Given the description of an element on the screen output the (x, y) to click on. 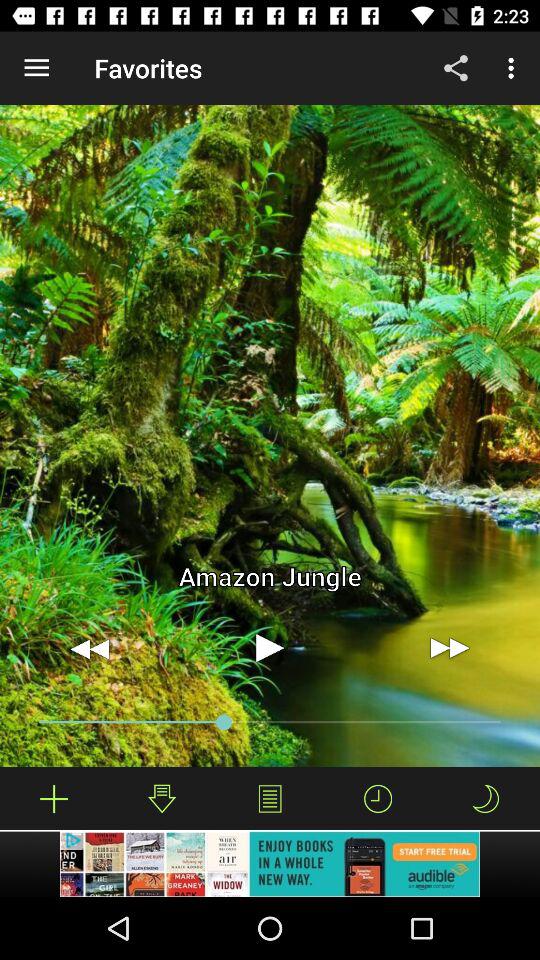
go to previous (90, 648)
